Given the description of an element on the screen output the (x, y) to click on. 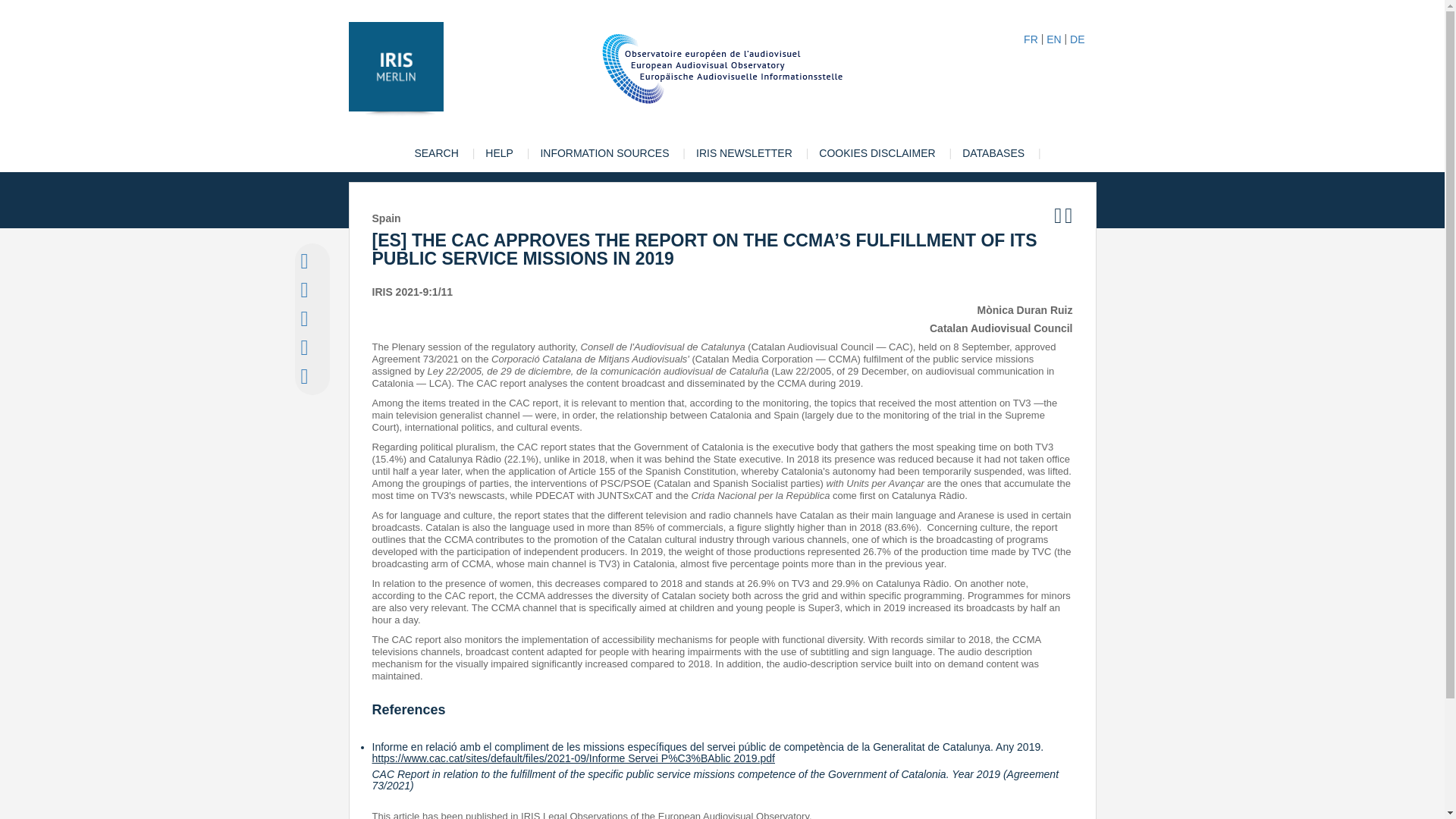
IRIS NEWSLETTER (744, 152)
COOKIES DISCLAIMER (876, 152)
INFORMATION SOURCES (604, 152)
FR (1030, 39)
DE (1077, 39)
DATABASES (993, 152)
SEARCH (435, 152)
EN (1053, 39)
HELP (499, 152)
